Given the description of an element on the screen output the (x, y) to click on. 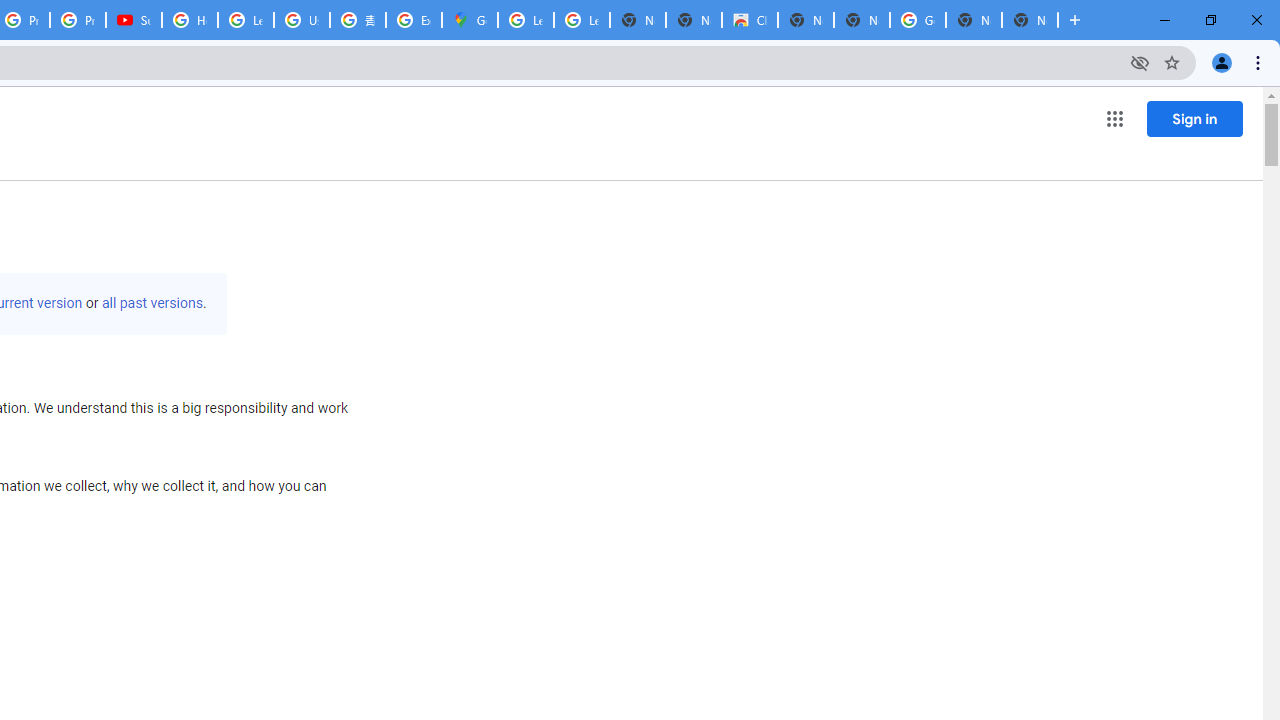
Google Images (917, 20)
Chrome Web Store (749, 20)
Subscriptions - YouTube (134, 20)
How Chrome protects your passwords - Google Chrome Help (189, 20)
all past versions (152, 303)
